Given the description of an element on the screen output the (x, y) to click on. 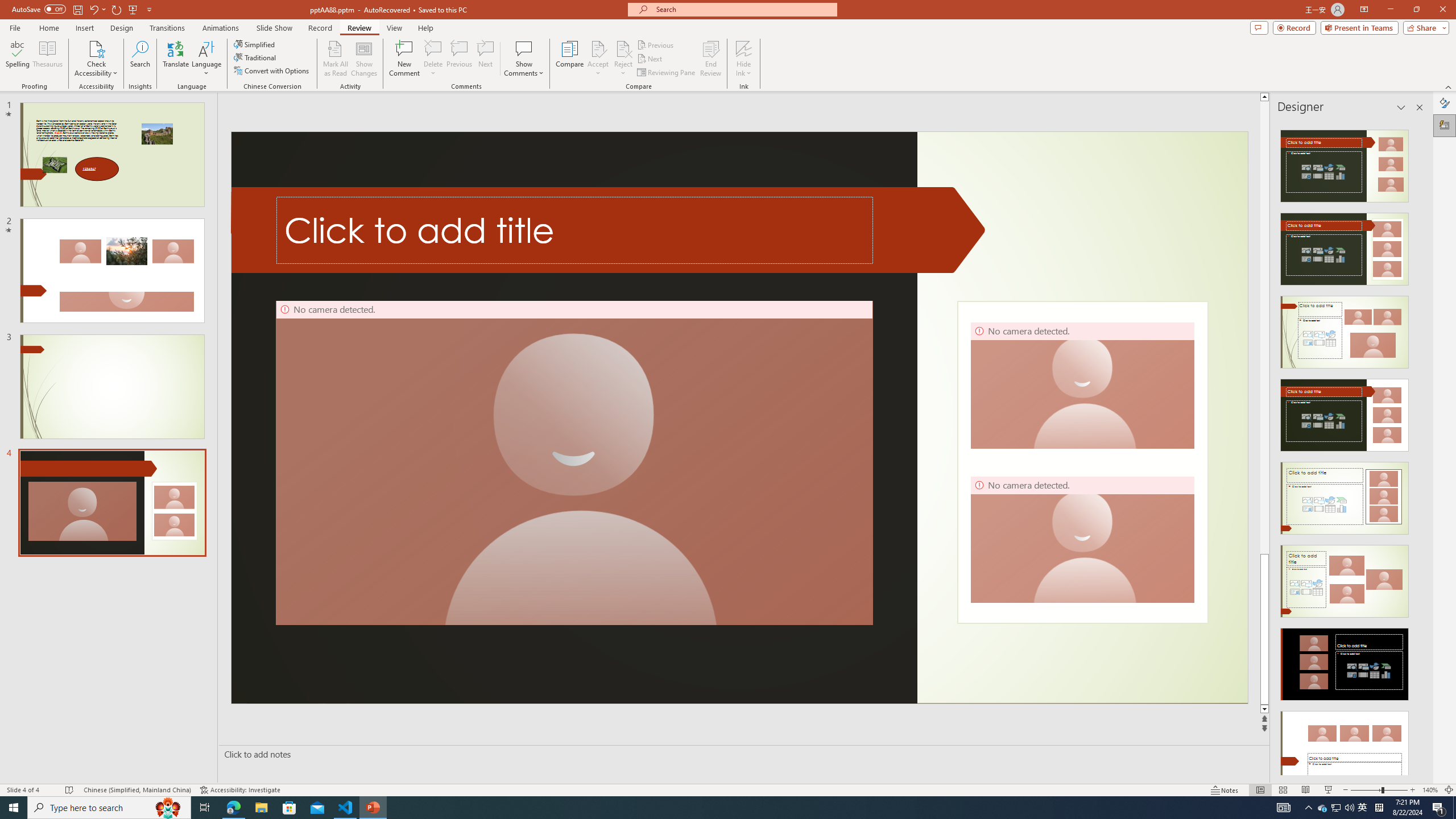
Translate (175, 58)
Camera 5, No camera detected. (574, 462)
Accept Change (598, 48)
